Given the description of an element on the screen output the (x, y) to click on. 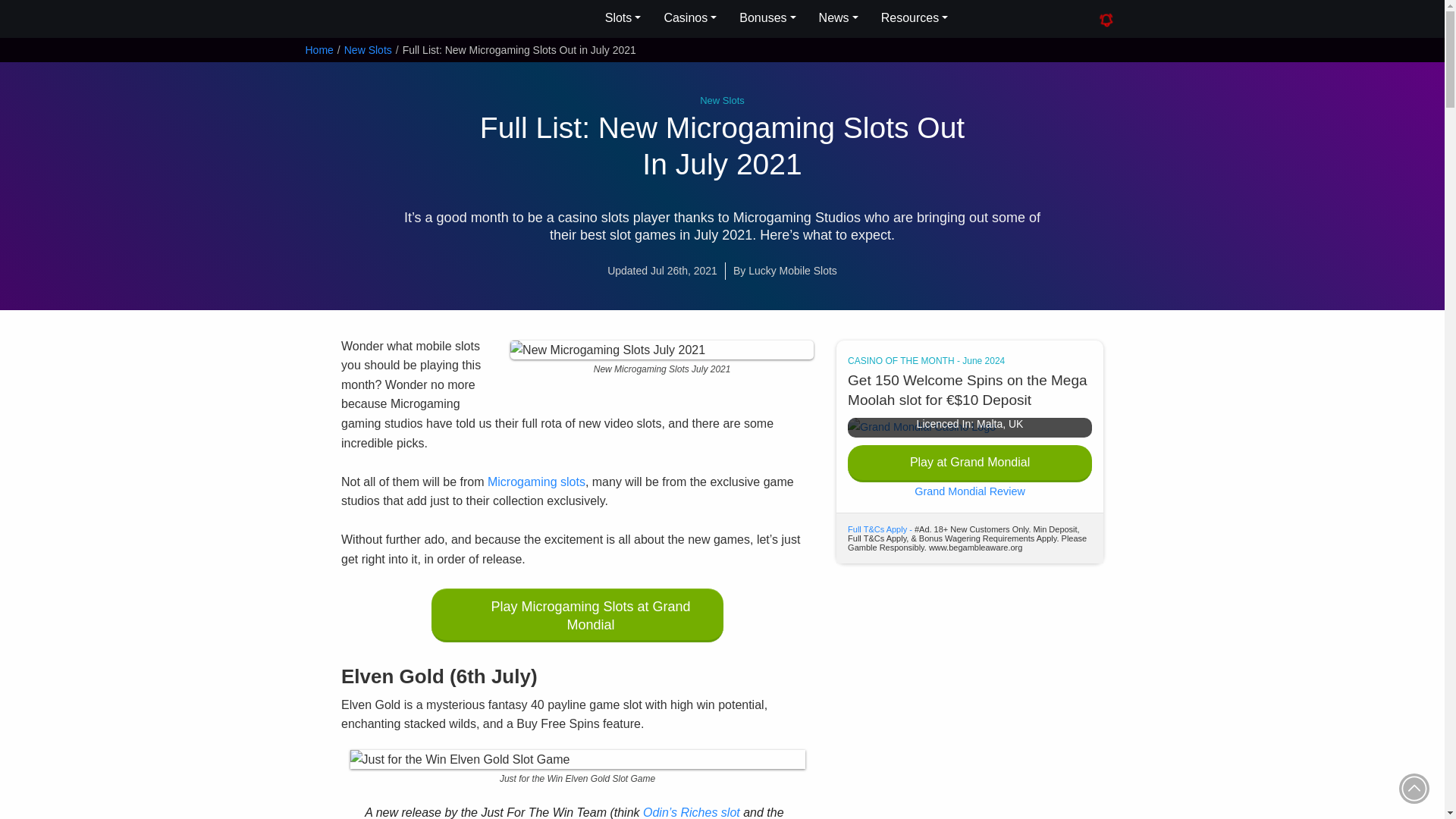
Back to Top (1414, 788)
Lucky Mobile Slots (378, 20)
Bonuses (767, 18)
Play Microgaming Slots at Grand Mondial (576, 615)
Casinos (690, 18)
News (838, 18)
Slots (623, 18)
Resources (914, 18)
New Slots (367, 49)
Home (318, 49)
